Given the description of an element on the screen output the (x, y) to click on. 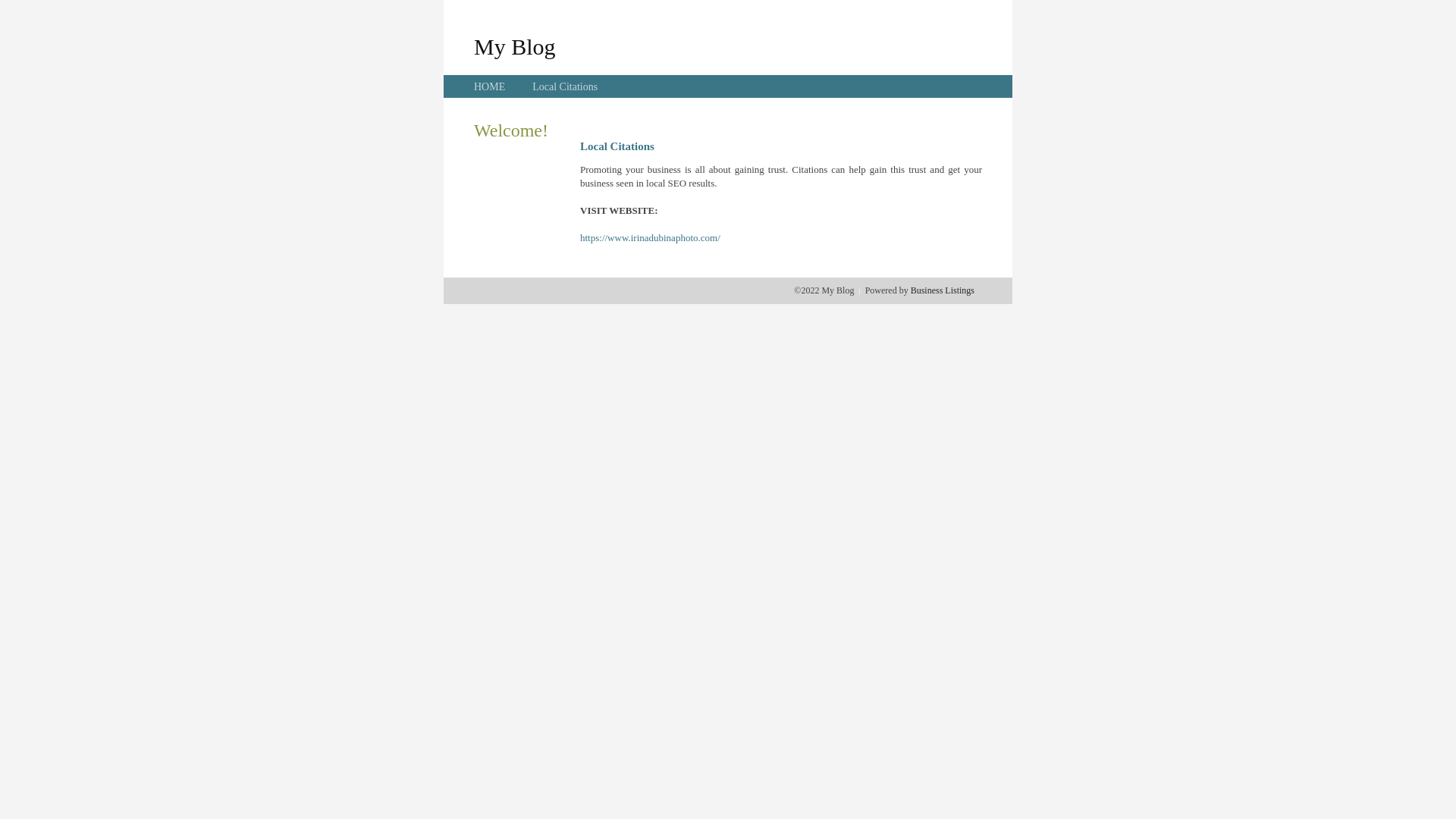
My Blog Element type: text (514, 46)
Business Listings Element type: text (942, 290)
HOME Element type: text (489, 86)
Local Citations Element type: text (564, 86)
https://www.irinadubinaphoto.com/ Element type: text (650, 237)
